Given the description of an element on the screen output the (x, y) to click on. 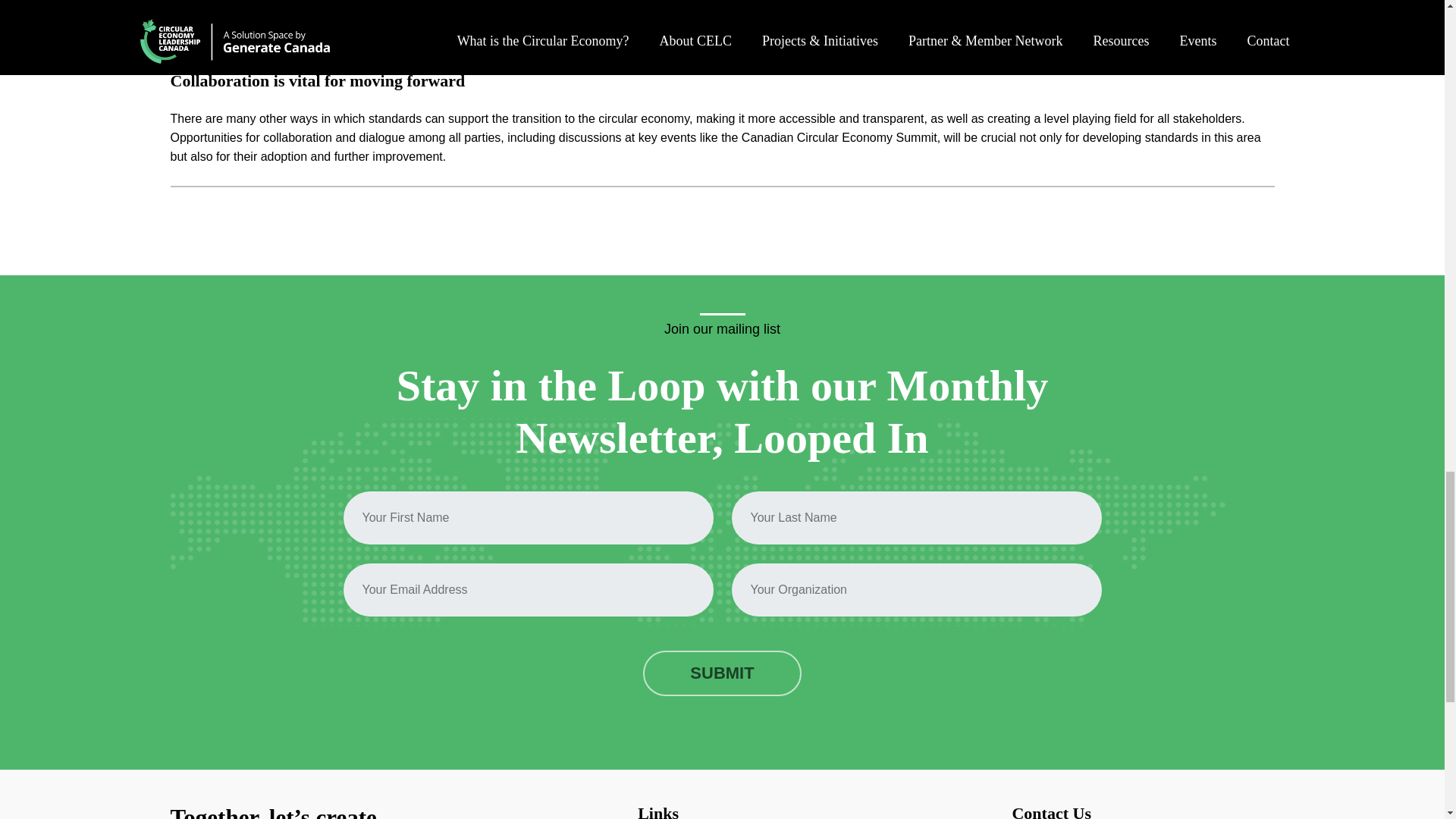
circularity and recycling of lithium-ion batteries (488, 22)
Submit (721, 673)
Submit (721, 673)
